Given the description of an element on the screen output the (x, y) to click on. 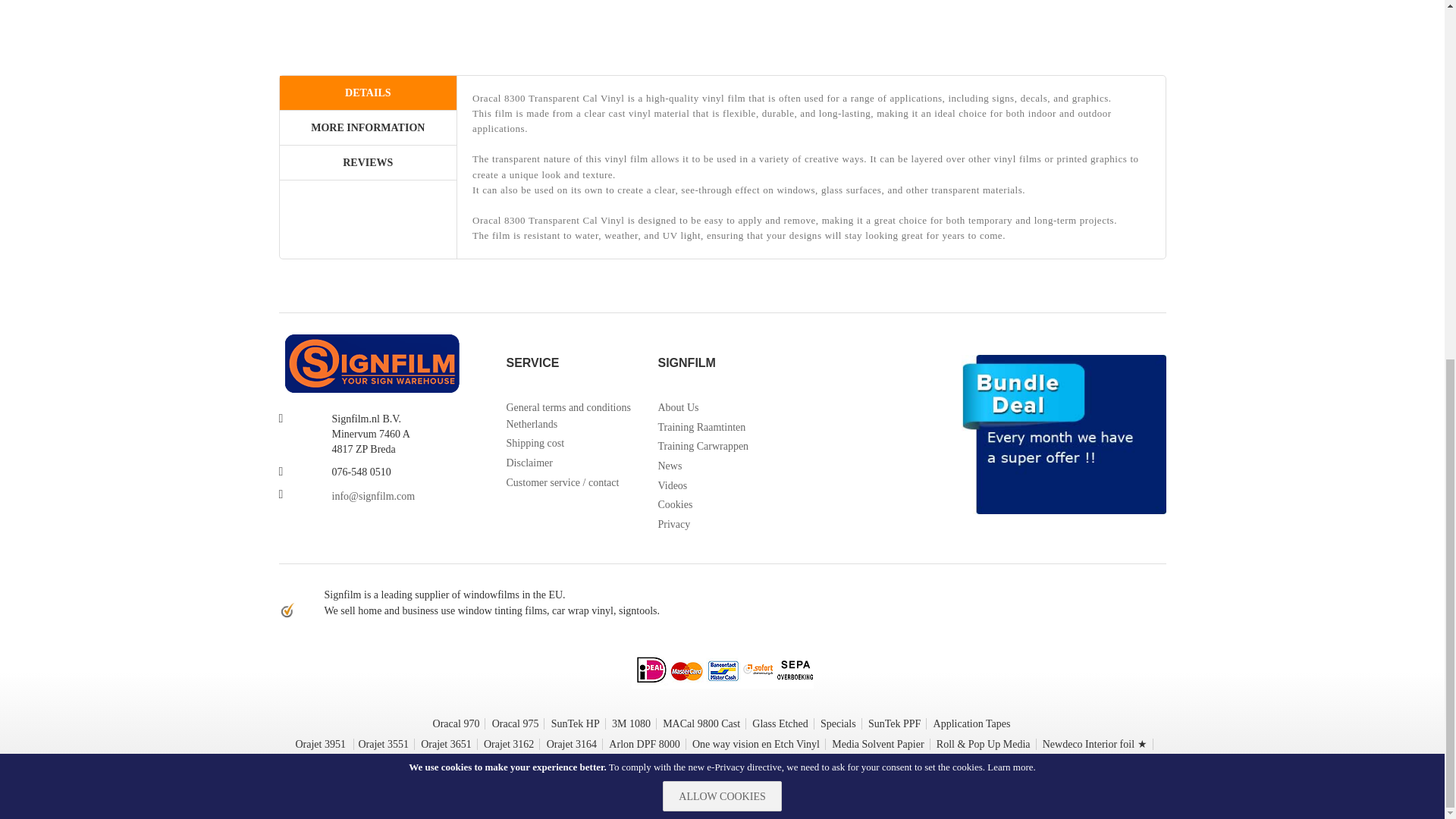
Learn more (1009, 131)
ALLOW COOKIES (721, 160)
General terms and conditions Netherlands (570, 416)
